Given the description of an element on the screen output the (x, y) to click on. 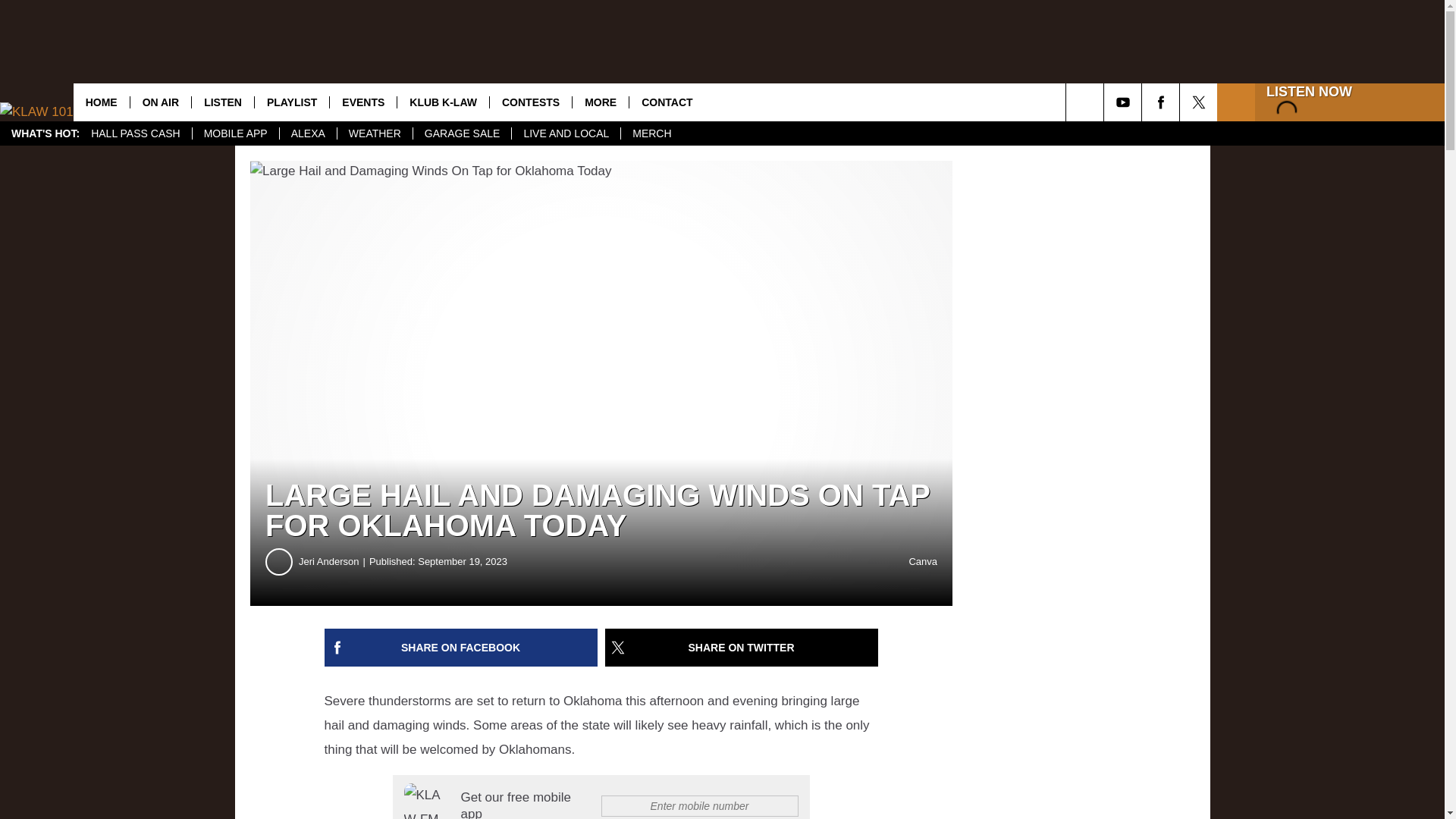
HOME (101, 102)
LIVE AND LOCAL (565, 133)
EVENTS (362, 102)
WEATHER (374, 133)
MOBILE APP (235, 133)
LISTEN (221, 102)
ALEXA (307, 133)
HALL PASS CASH (136, 133)
GARAGE SALE (462, 133)
Share on Facebook (460, 647)
